Given the description of an element on the screen output the (x, y) to click on. 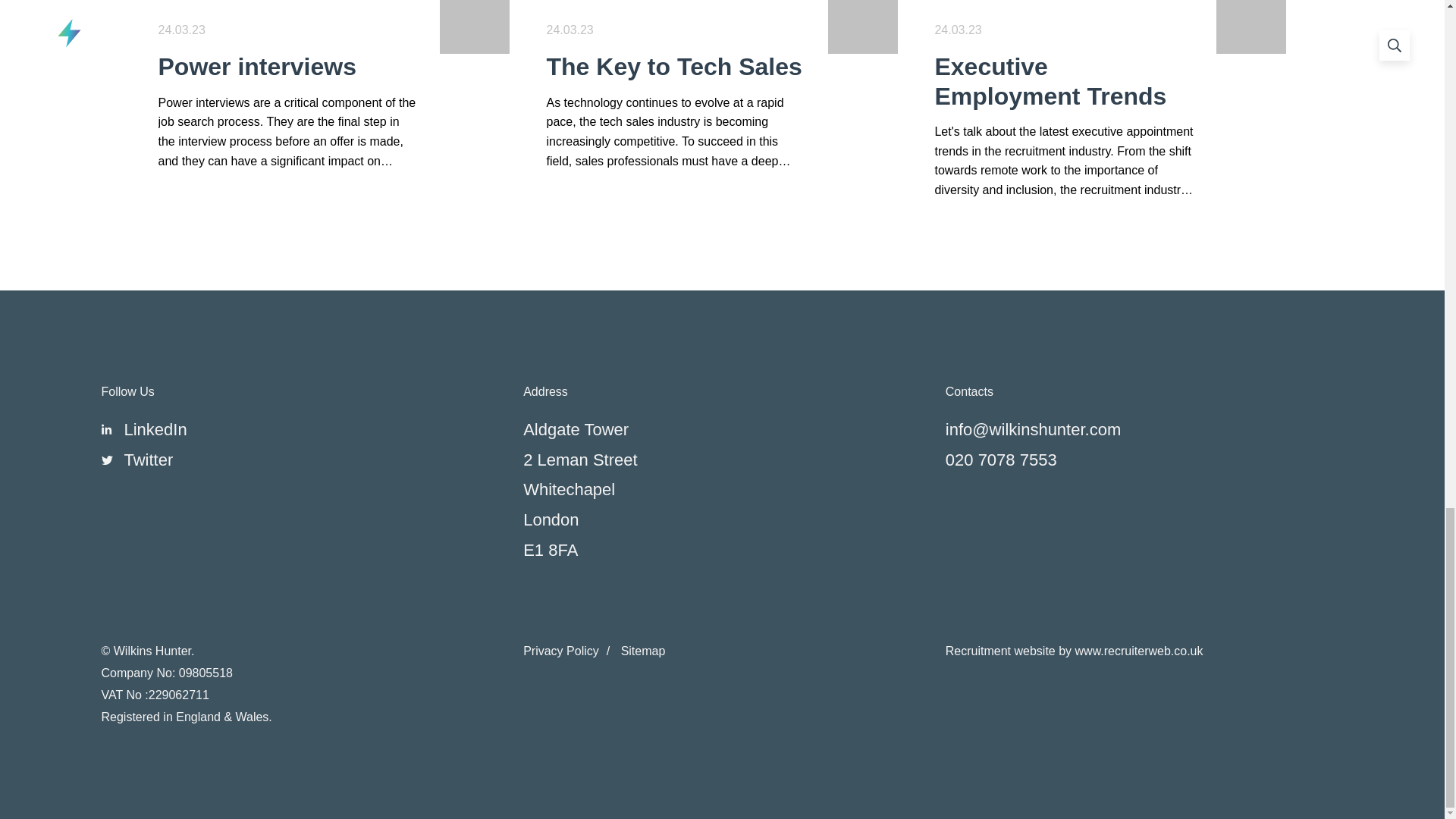
Privacy Policy (569, 650)
twitter (148, 459)
Recruitment website by www.recruiterweb.co.uk (1074, 650)
Executive Employment Trends (1063, 81)
Sitemap (643, 650)
linkedin (155, 429)
Twitter (148, 459)
LinkedIn (155, 429)
The Key to Tech Sales (675, 66)
RecruiterWEB (1074, 650)
Power interviews (286, 66)
